Given the description of an element on the screen output the (x, y) to click on. 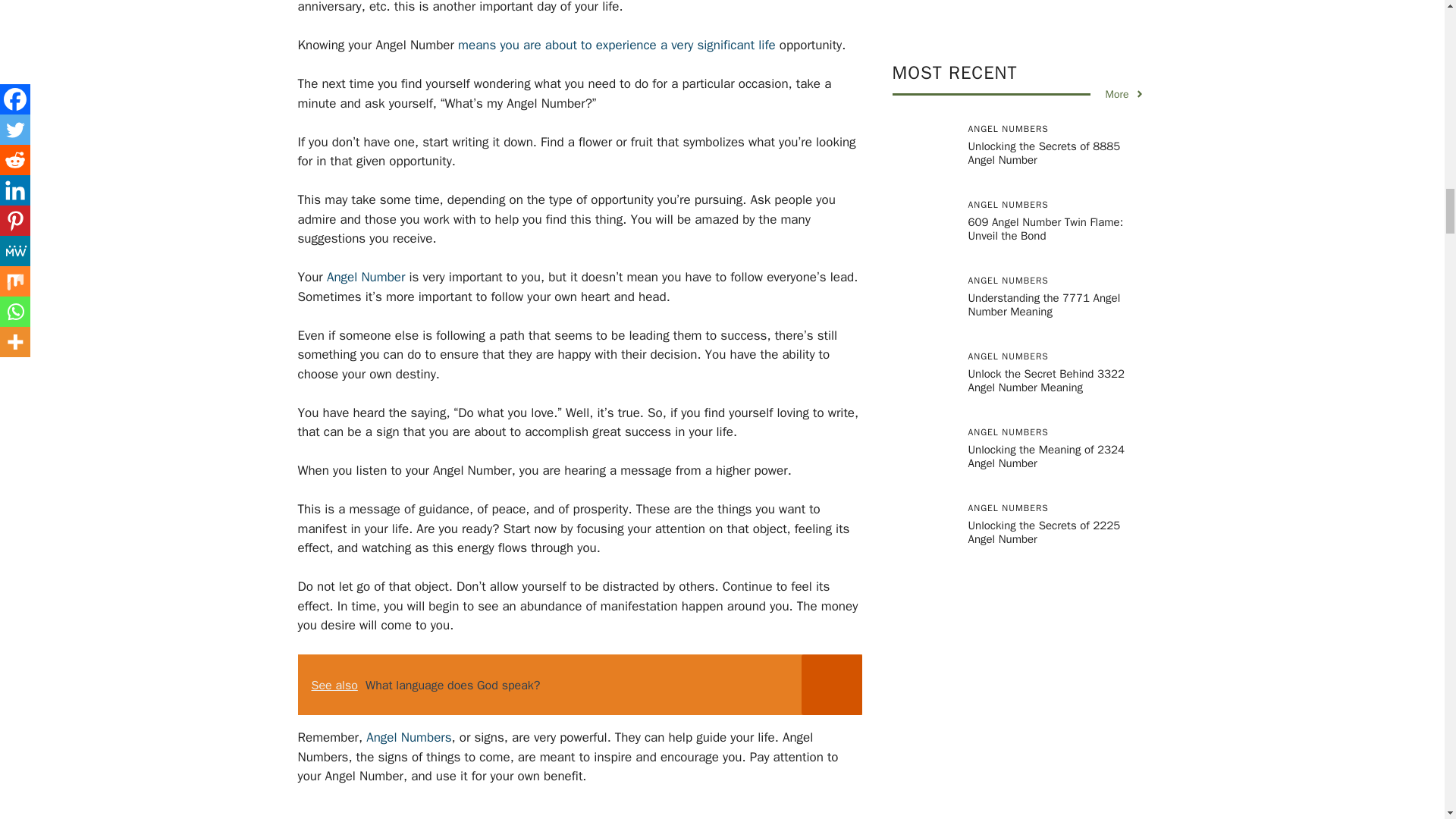
Angel Number (366, 277)
See also  What language does God speak? (579, 684)
means you are about to experience a very significant life (617, 44)
Angel Numbers (408, 737)
